Given the description of an element on the screen output the (x, y) to click on. 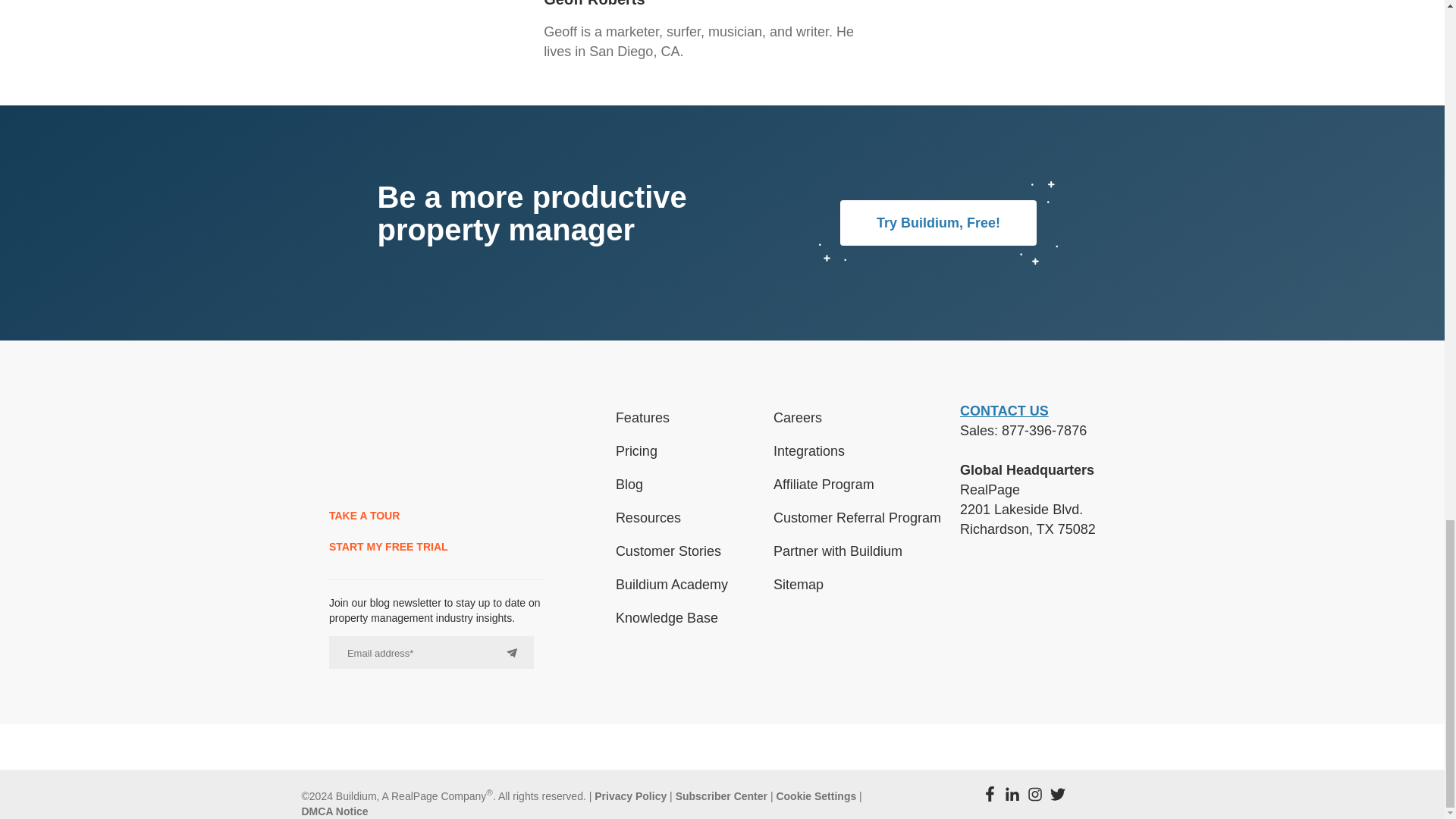
Read reviews of Buildium on G2 (1002, 603)
Buildium Homepage (372, 447)
